Given the description of an element on the screen output the (x, y) to click on. 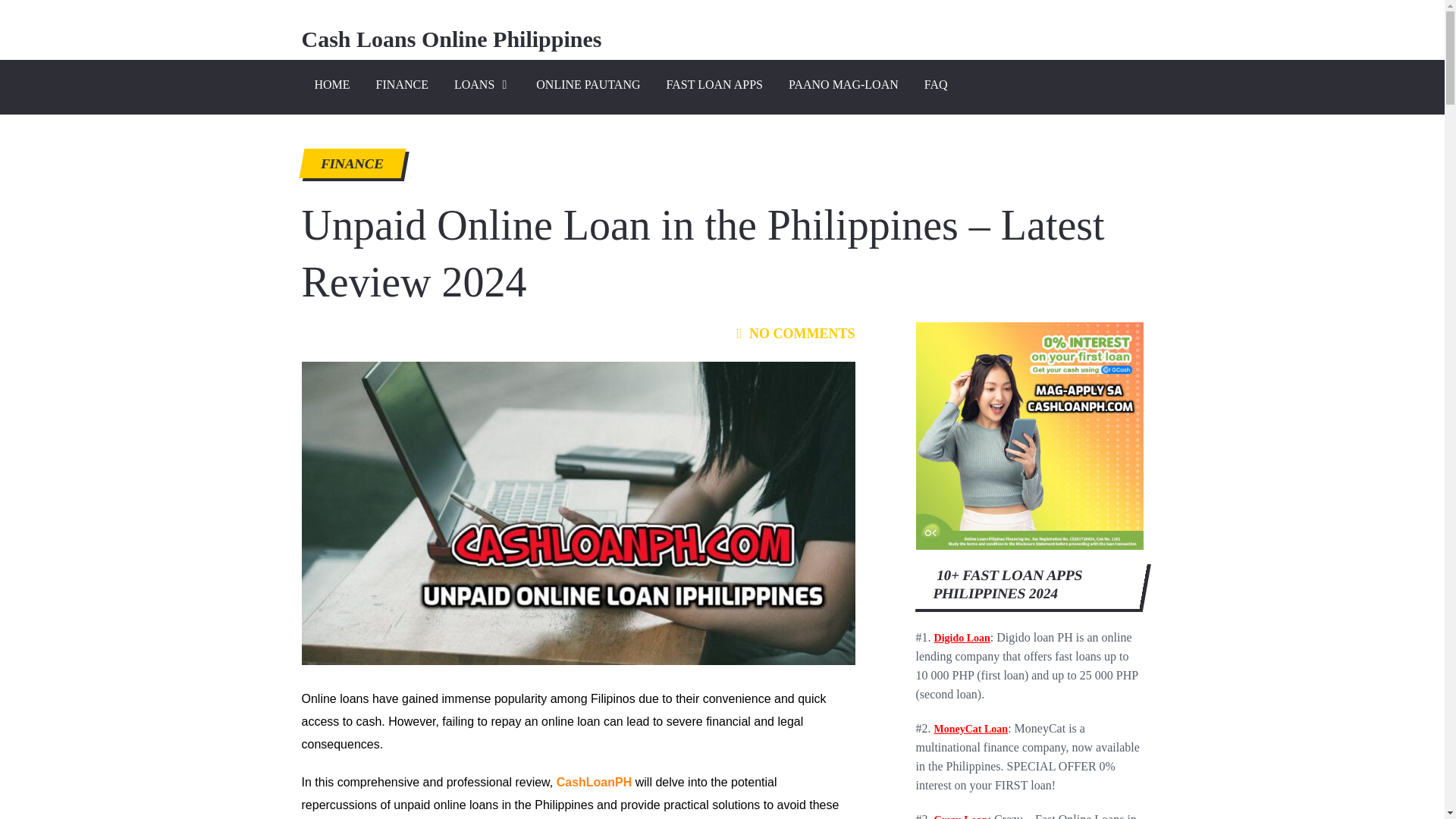
HOME (331, 86)
ONLINE PAUTANG (587, 86)
FINANCE (401, 86)
FAQ (935, 86)
FAST LOAN APPS (714, 86)
PAANO MAG-LOAN (843, 86)
FINANCE (350, 163)
Cash Loans Online Philippines (451, 38)
LOANS (481, 86)
View all posts in Finance (350, 163)
